Given the description of an element on the screen output the (x, y) to click on. 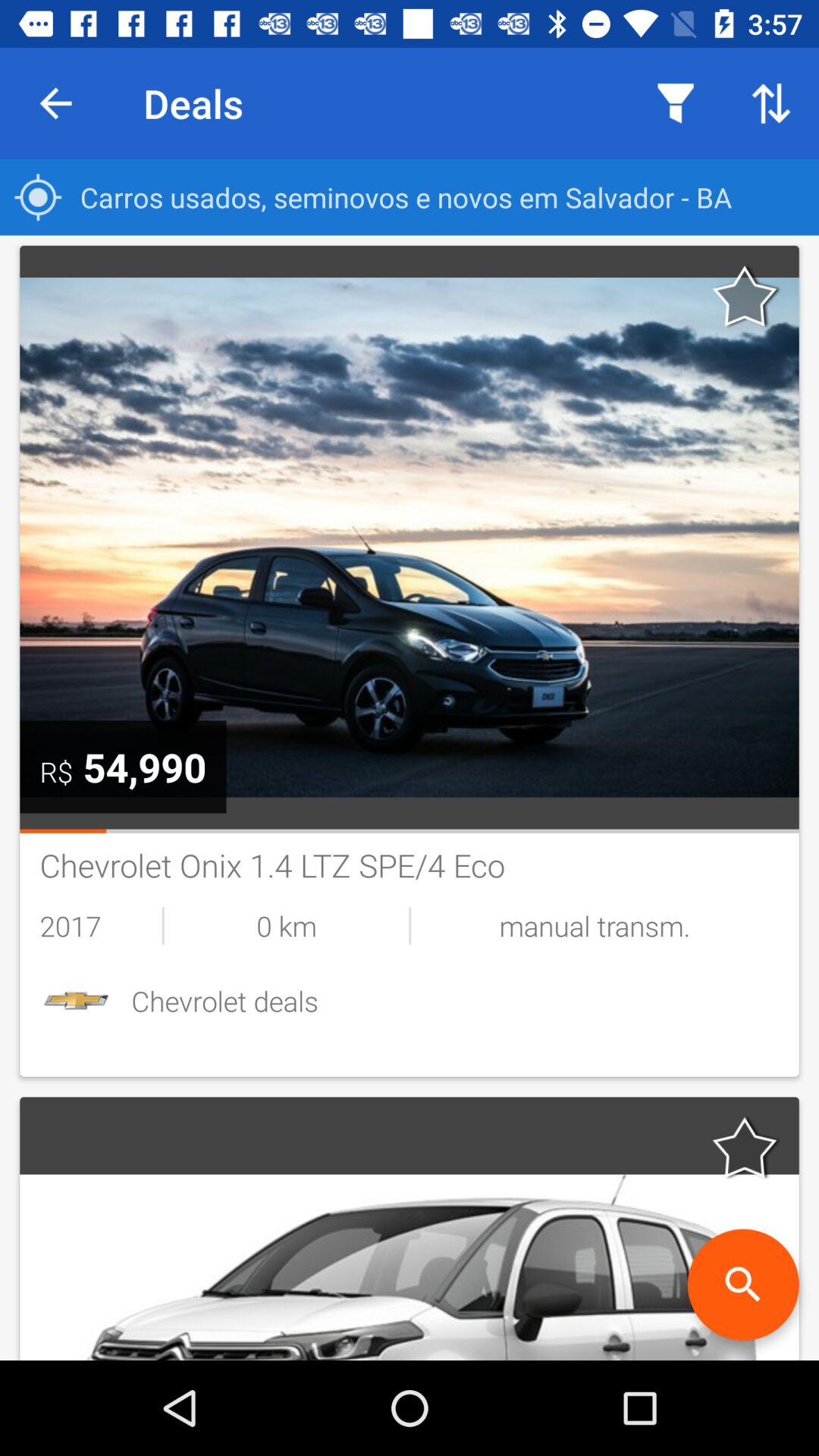
launch carros usados seminovos icon (409, 197)
